Given the description of an element on the screen output the (x, y) to click on. 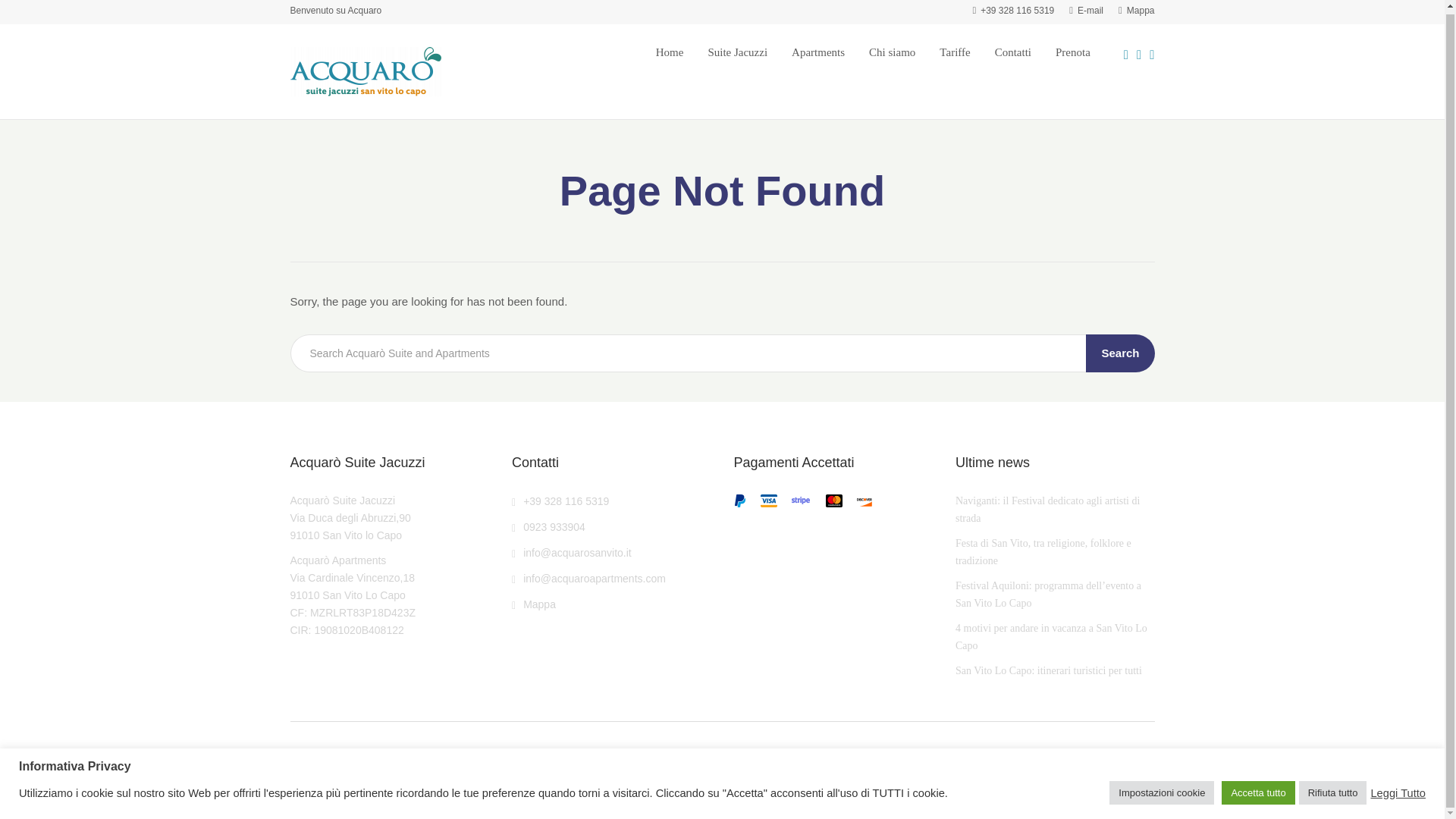
Suite Jacuzzi (737, 52)
Prenota (1072, 52)
Apartments (818, 52)
Contatti (1012, 52)
Search (1120, 353)
Mappa (534, 604)
Mappa (1136, 9)
E-mail (1085, 9)
Chi siamo (892, 52)
0923 933904 (548, 526)
